Given the description of an element on the screen output the (x, y) to click on. 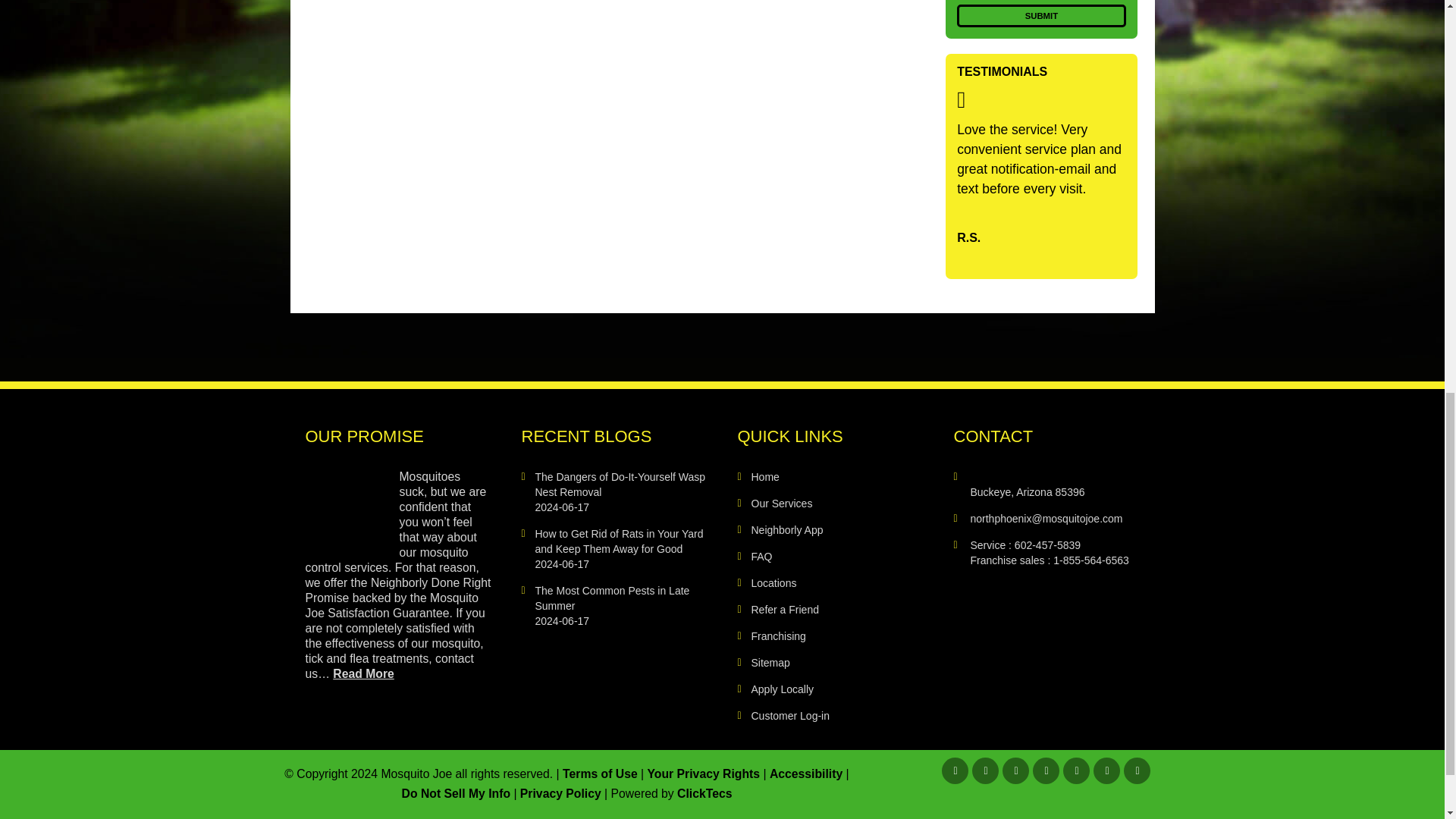
ClickTecs - Creativity with Expertise (704, 793)
Submit (1040, 15)
